Given the description of an element on the screen output the (x, y) to click on. 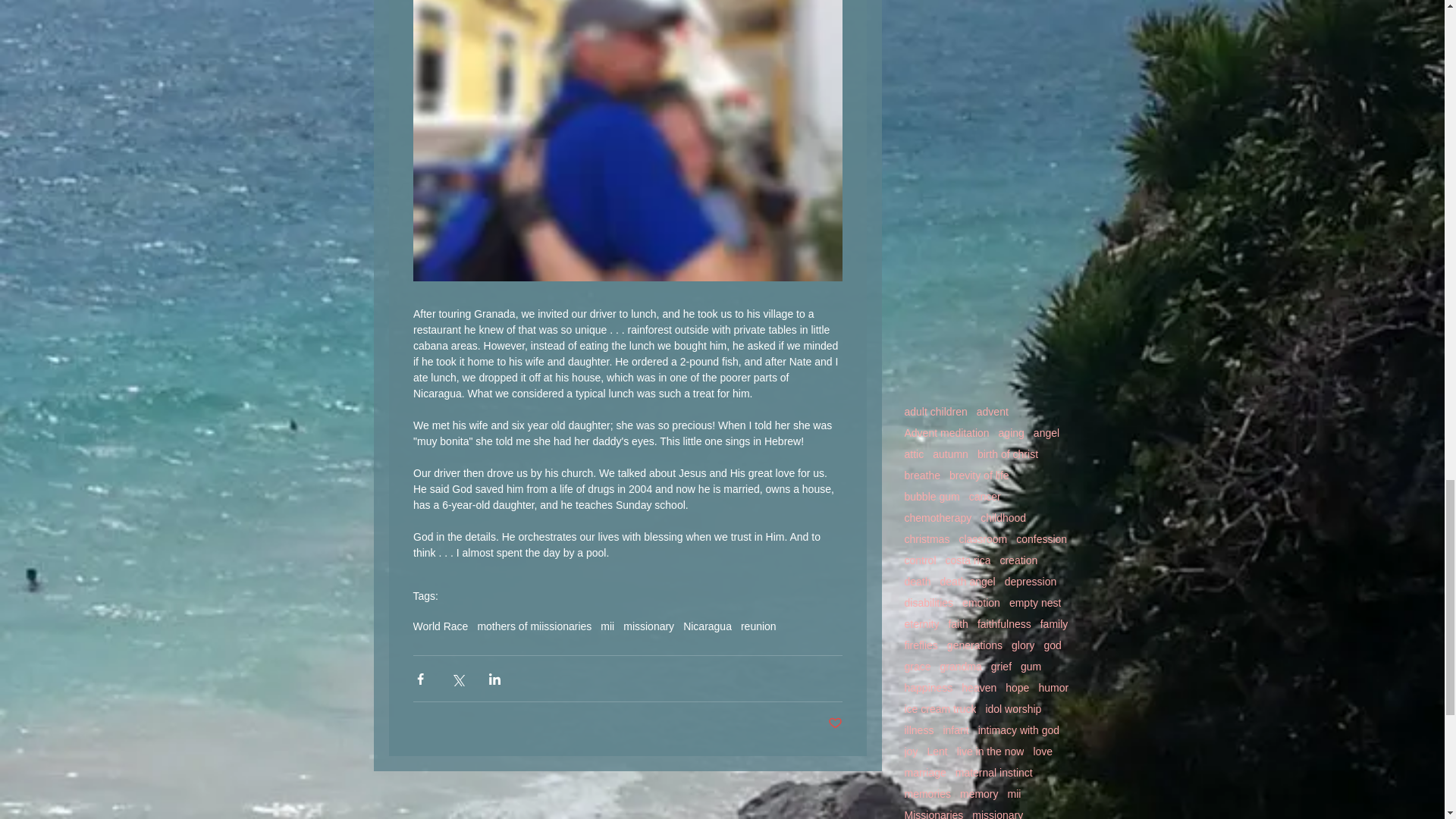
birth of christ (1007, 453)
mii (606, 625)
brevity of life (979, 475)
breathe (921, 475)
advent (992, 411)
World Race (439, 625)
reunion (758, 625)
mothers of miissionaries (534, 625)
Nicaragua (707, 625)
angel (1046, 432)
missionary (648, 625)
attic (913, 453)
aging (1011, 432)
adult children (935, 411)
autumn (950, 453)
